Given the description of an element on the screen output the (x, y) to click on. 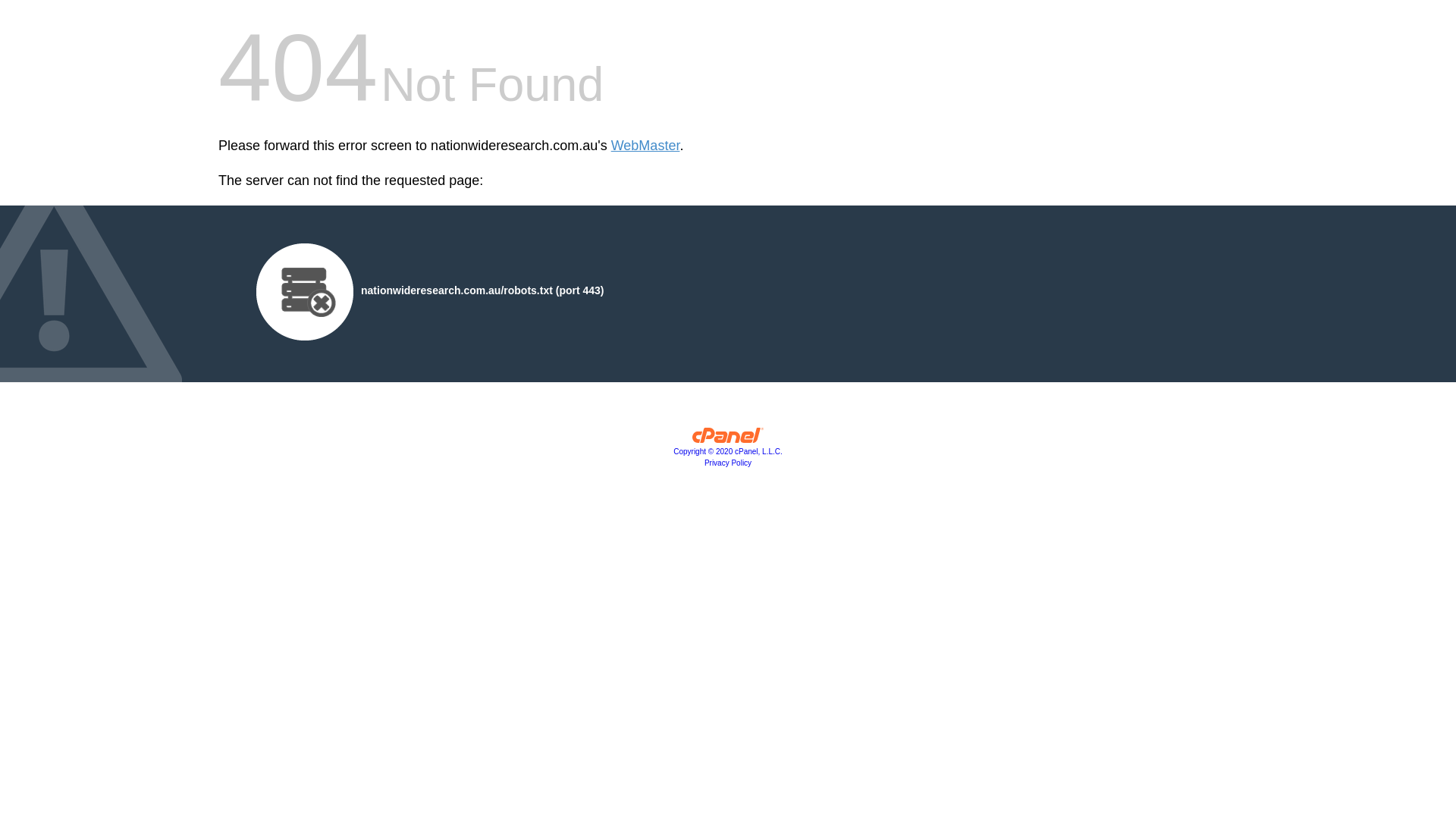
Privacy Policy Element type: text (727, 462)
cPanel, Inc. Element type: hover (728, 439)
WebMaster Element type: text (645, 145)
